Given the description of an element on the screen output the (x, y) to click on. 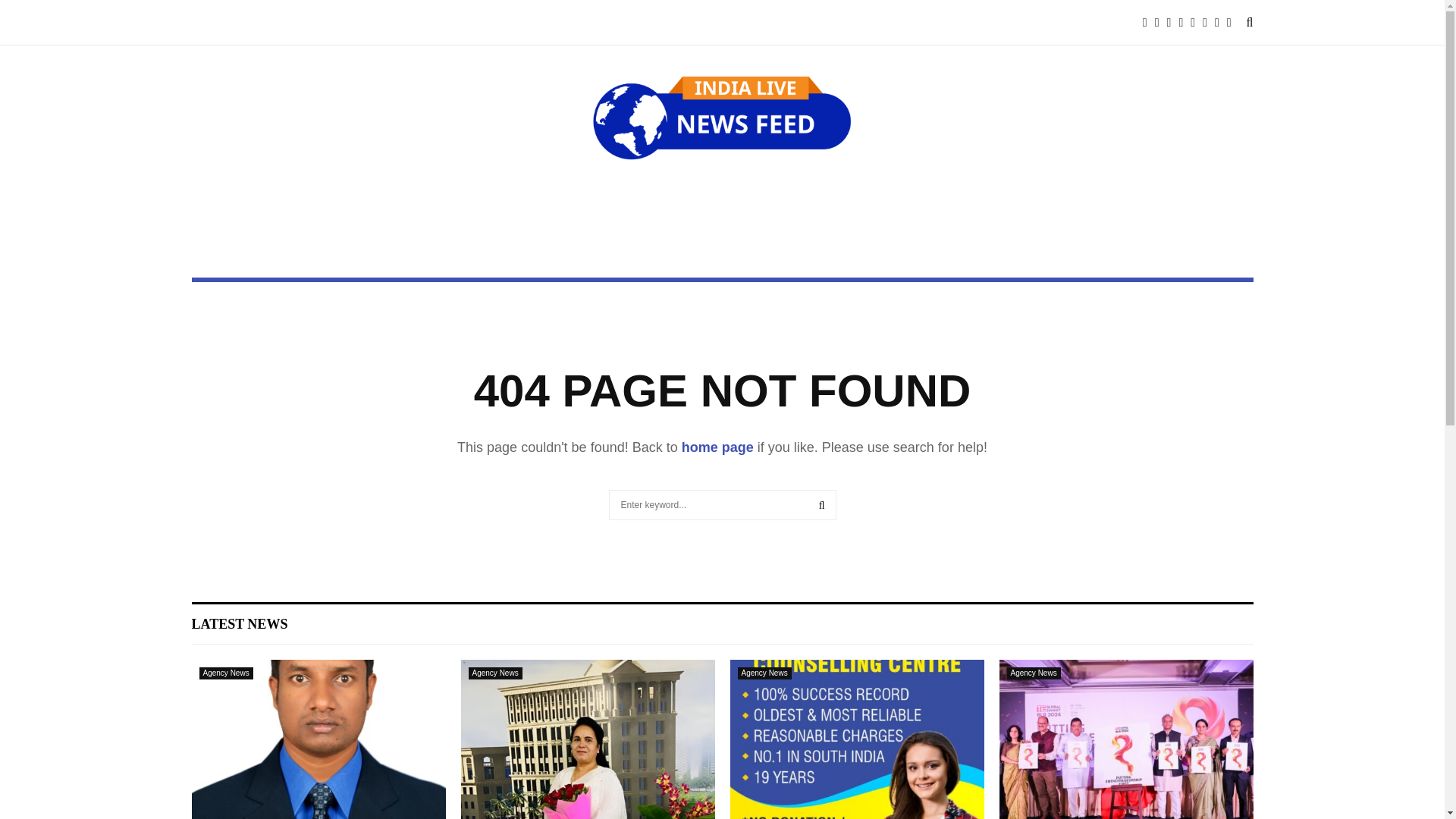
Agency News (1034, 673)
SEARCH (821, 504)
LATEST NEWS (238, 623)
Latest News (238, 623)
home page (717, 447)
View all posts in Agency News (763, 673)
View all posts in Agency News (495, 673)
View all posts in Agency News (224, 673)
Agency News (495, 673)
